Given the description of an element on the screen output the (x, y) to click on. 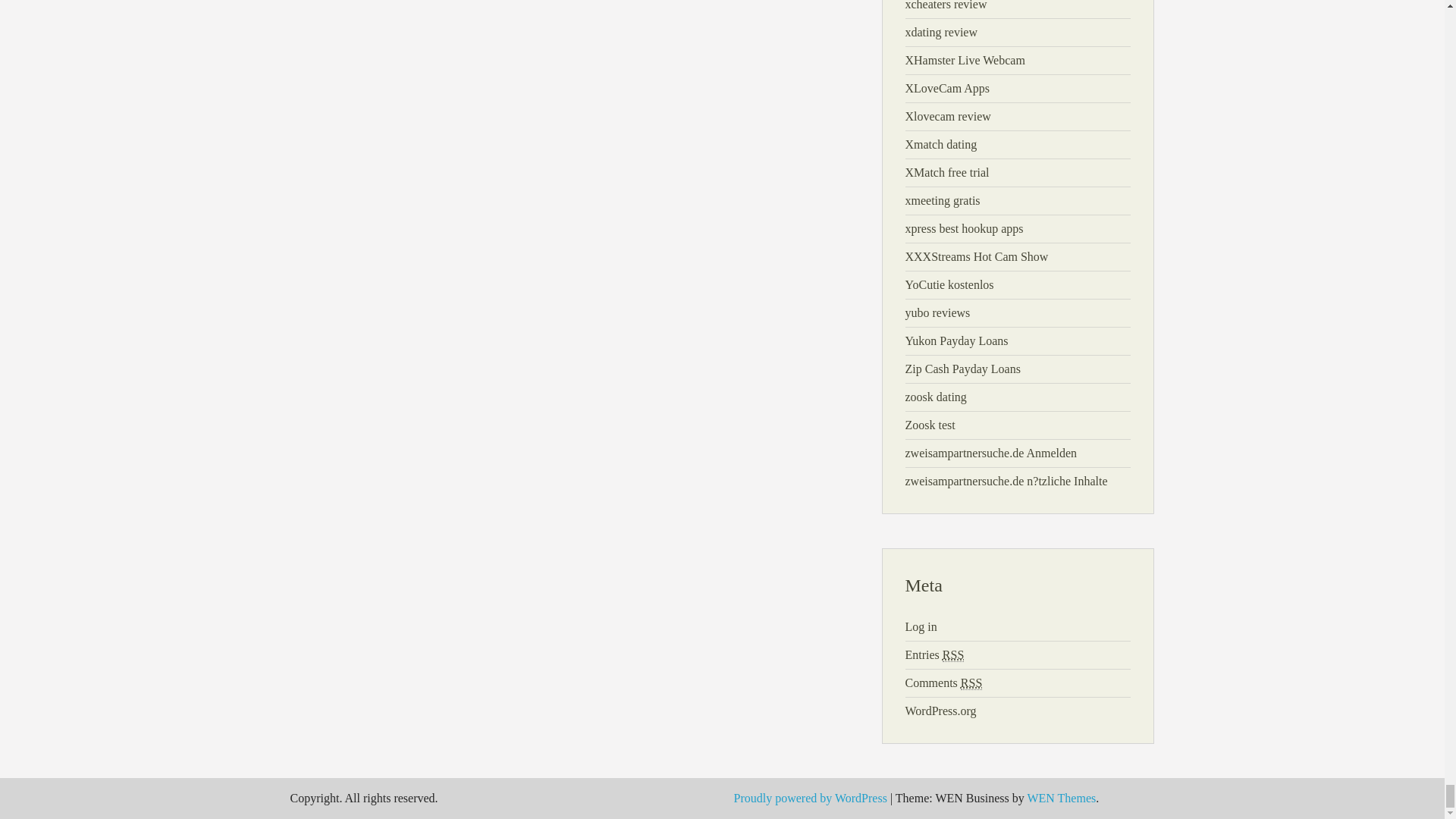
Really Simple Syndication (970, 683)
Really Simple Syndication (952, 654)
